Given the description of an element on the screen output the (x, y) to click on. 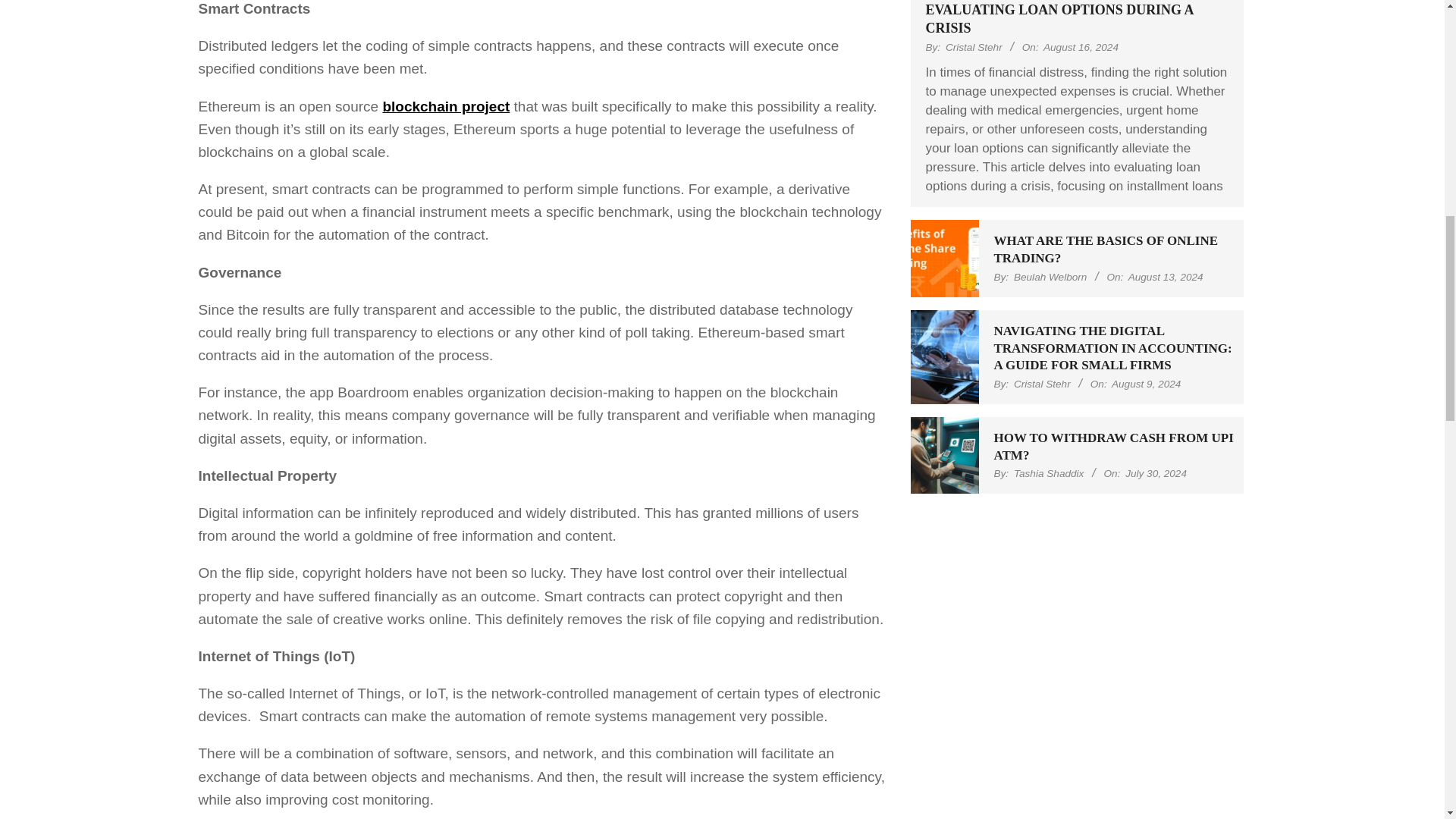
Posts by Tashia Shaddix (1048, 473)
Friday, August 9, 2024, 1:43 pm (1146, 383)
Posts by Beulah Welborn (1049, 276)
Beulah Welborn (1049, 276)
Tuesday, August 13, 2024, 9:46 am (1166, 276)
Cristal Stehr (973, 47)
Posts by Cristal Stehr (973, 47)
Tuesday, July 30, 2024, 10:46 am (1155, 473)
